Given the description of an element on the screen output the (x, y) to click on. 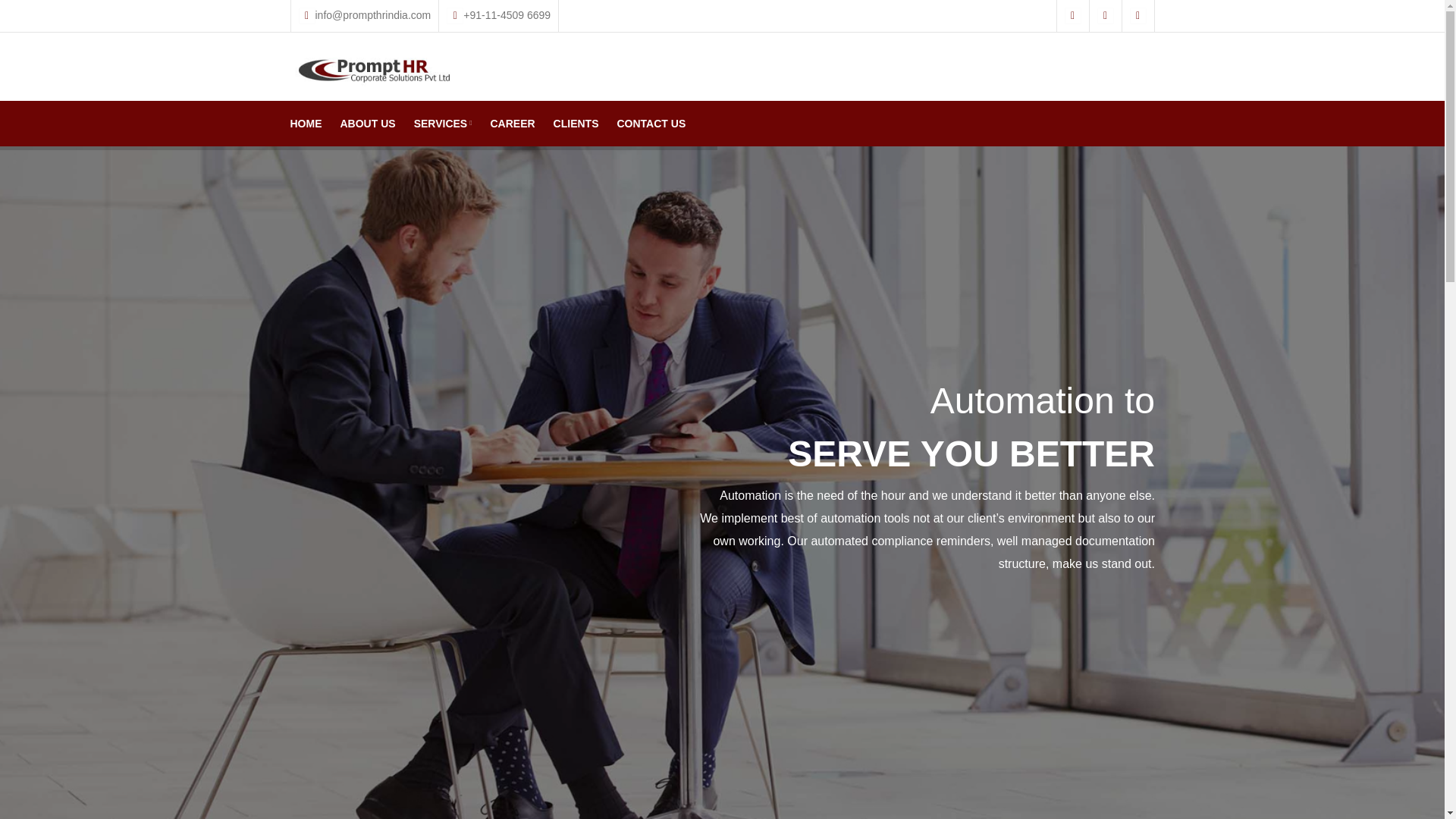
CLIENTS (576, 123)
HOME (309, 123)
SERVICES (442, 123)
CONTACT US (650, 123)
CAREER (511, 123)
ABOUT US (367, 123)
